Given the description of an element on the screen output the (x, y) to click on. 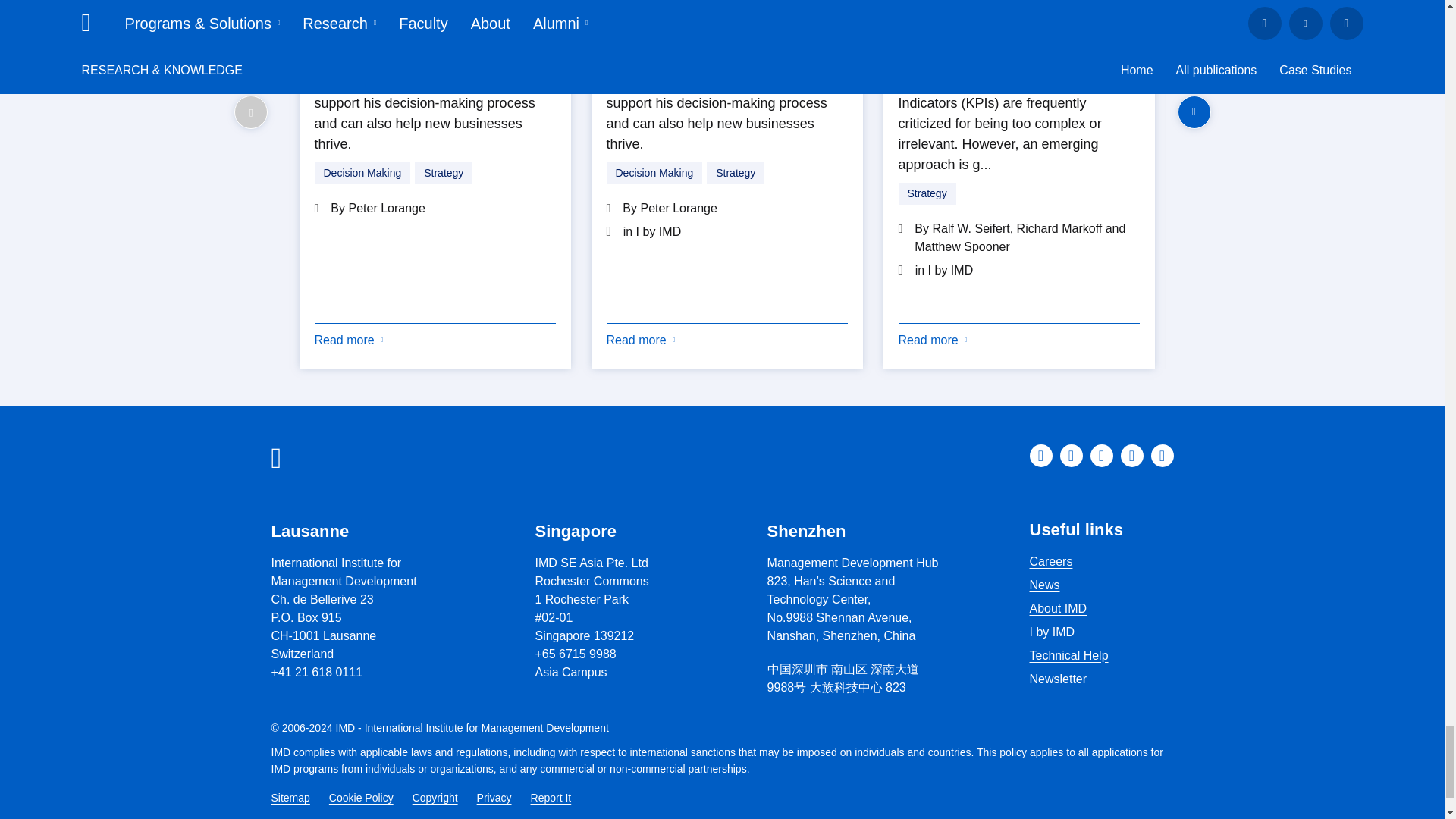
YouTube (1162, 455)
Twitter (1131, 455)
Instagram (1101, 455)
LinkedIn (1040, 455)
Facebook (1071, 455)
